Given the description of an element on the screen output the (x, y) to click on. 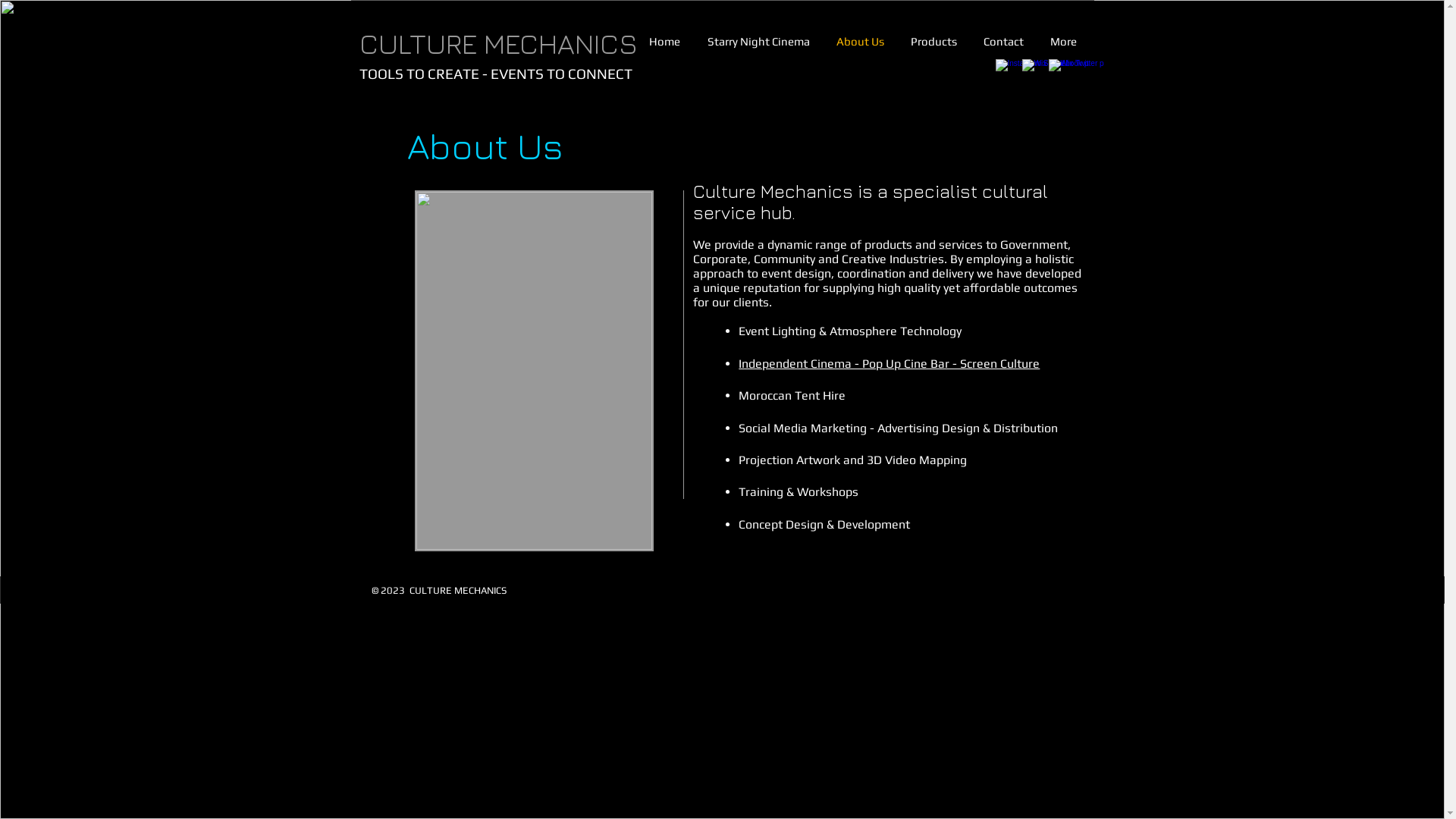
Products Element type: text (933, 41)
Starry Night Cinema Element type: text (757, 41)
Contact Element type: text (1003, 41)
Independent Cinema - Pop Up Cine Bar - Screen Culture Element type: text (888, 363)
About Us Element type: text (860, 41)
Home Element type: text (664, 41)
1N3A4635.JPG Element type: hover (533, 370)
